Given the description of an element on the screen output the (x, y) to click on. 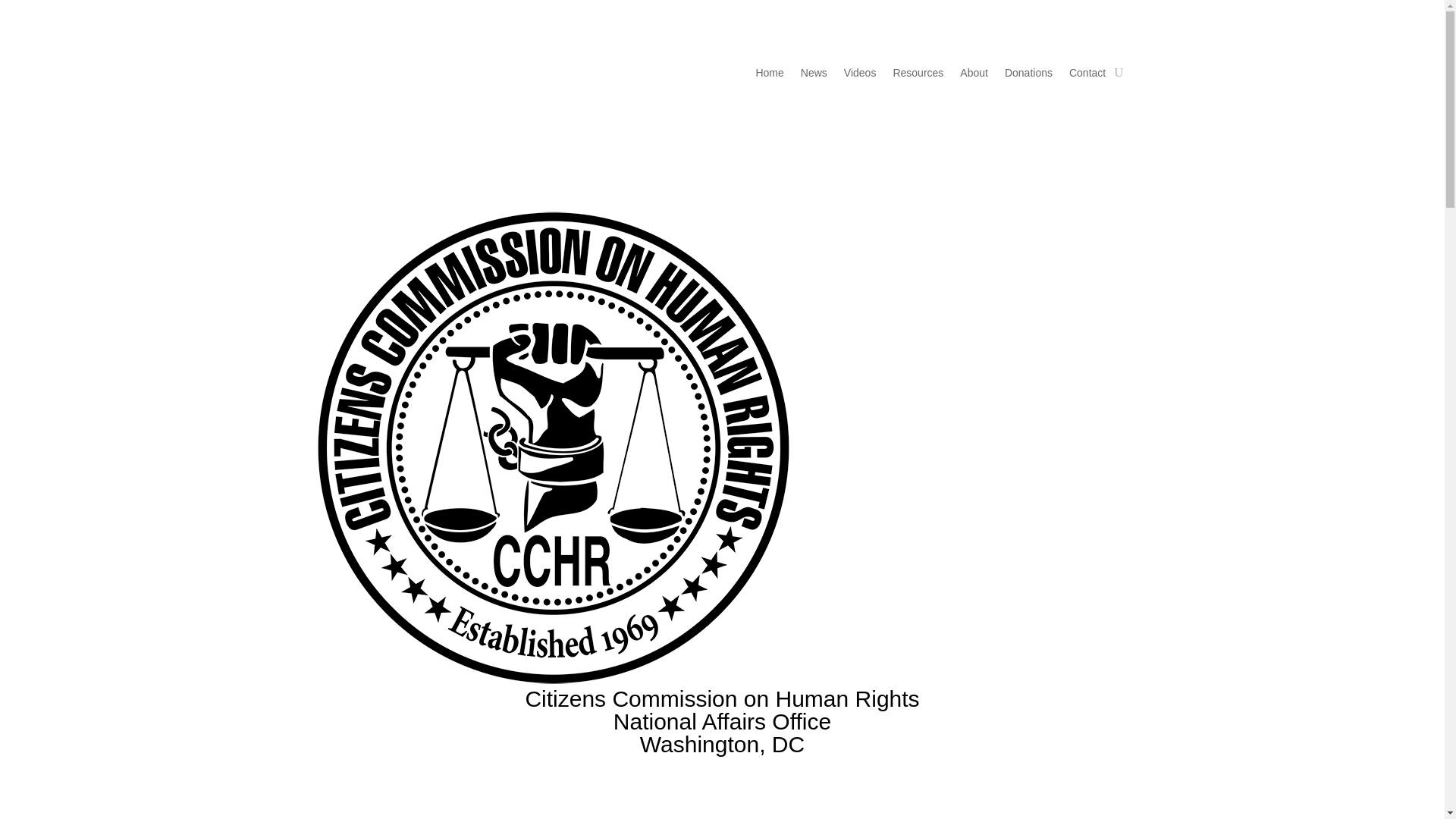
Videos (860, 75)
Resources (917, 75)
Donations (1028, 75)
Home (769, 75)
About (973, 75)
News (813, 75)
Contact (1086, 75)
